Given the description of an element on the screen output the (x, y) to click on. 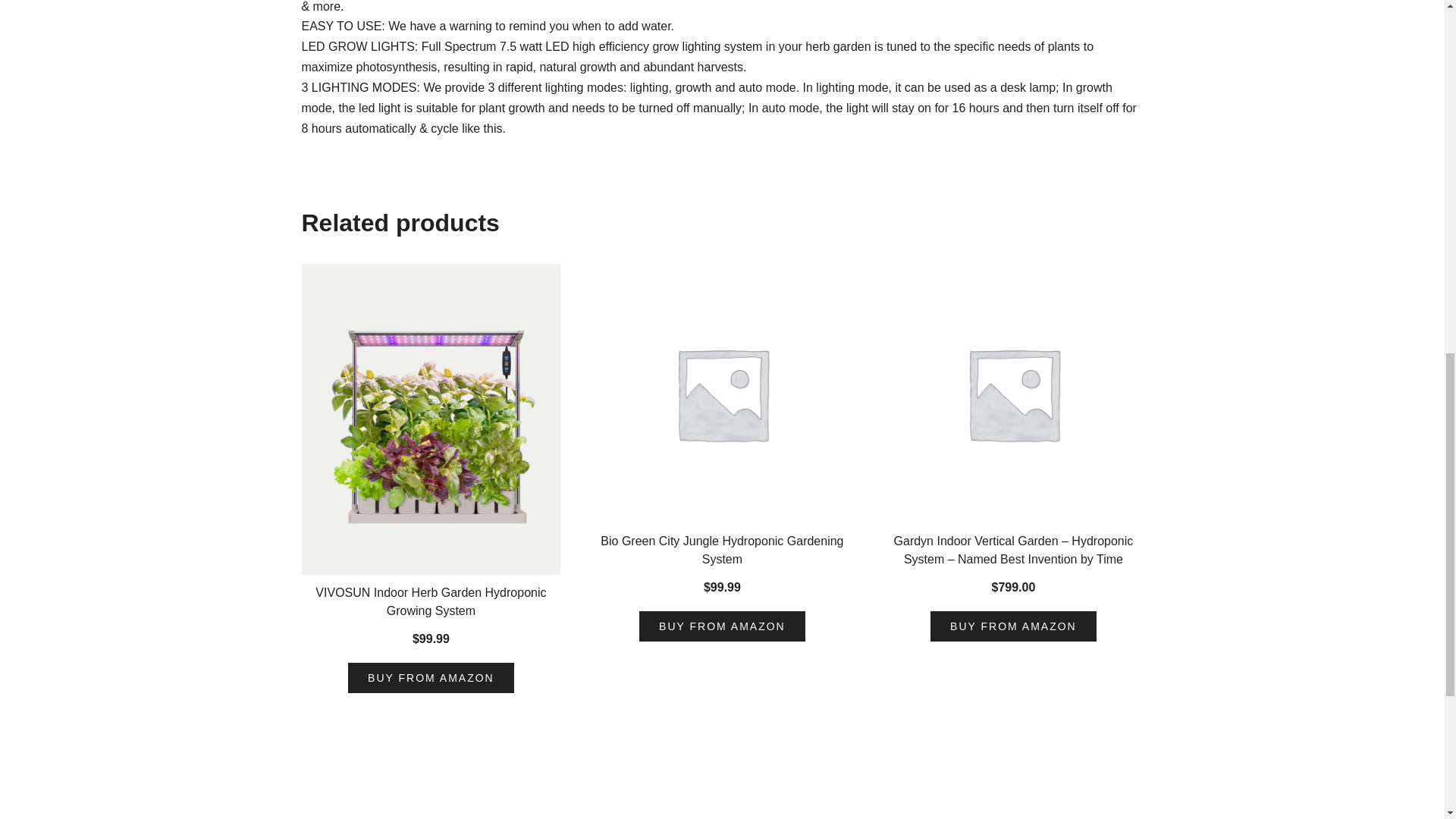
BUY FROM AMAZON (722, 625)
BUY FROM AMAZON (430, 677)
BUY FROM AMAZON (1013, 625)
